Given the description of an element on the screen output the (x, y) to click on. 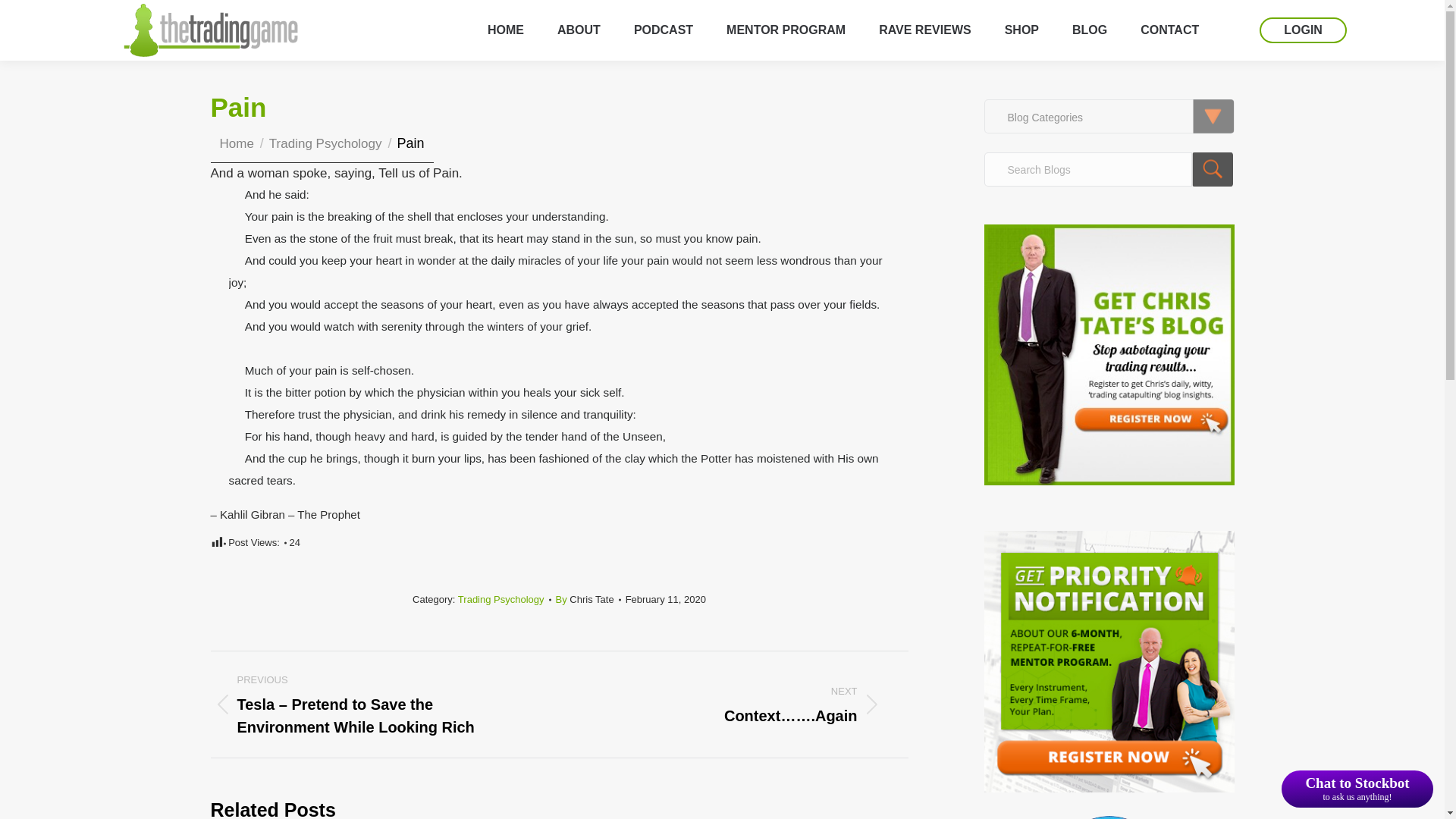
SHOP (1021, 29)
RAVE REVIEWS (925, 29)
LOGIN (1302, 29)
Trading Psychology (325, 143)
View all posts by Chris Tate (588, 599)
Home (236, 143)
BLOG (1088, 29)
ABOUT (578, 29)
PODCAST (663, 29)
MENTOR PROGRAM (785, 29)
7:34 am (666, 599)
CONTACT (1169, 29)
HOME (505, 29)
